Given the description of an element on the screen output the (x, y) to click on. 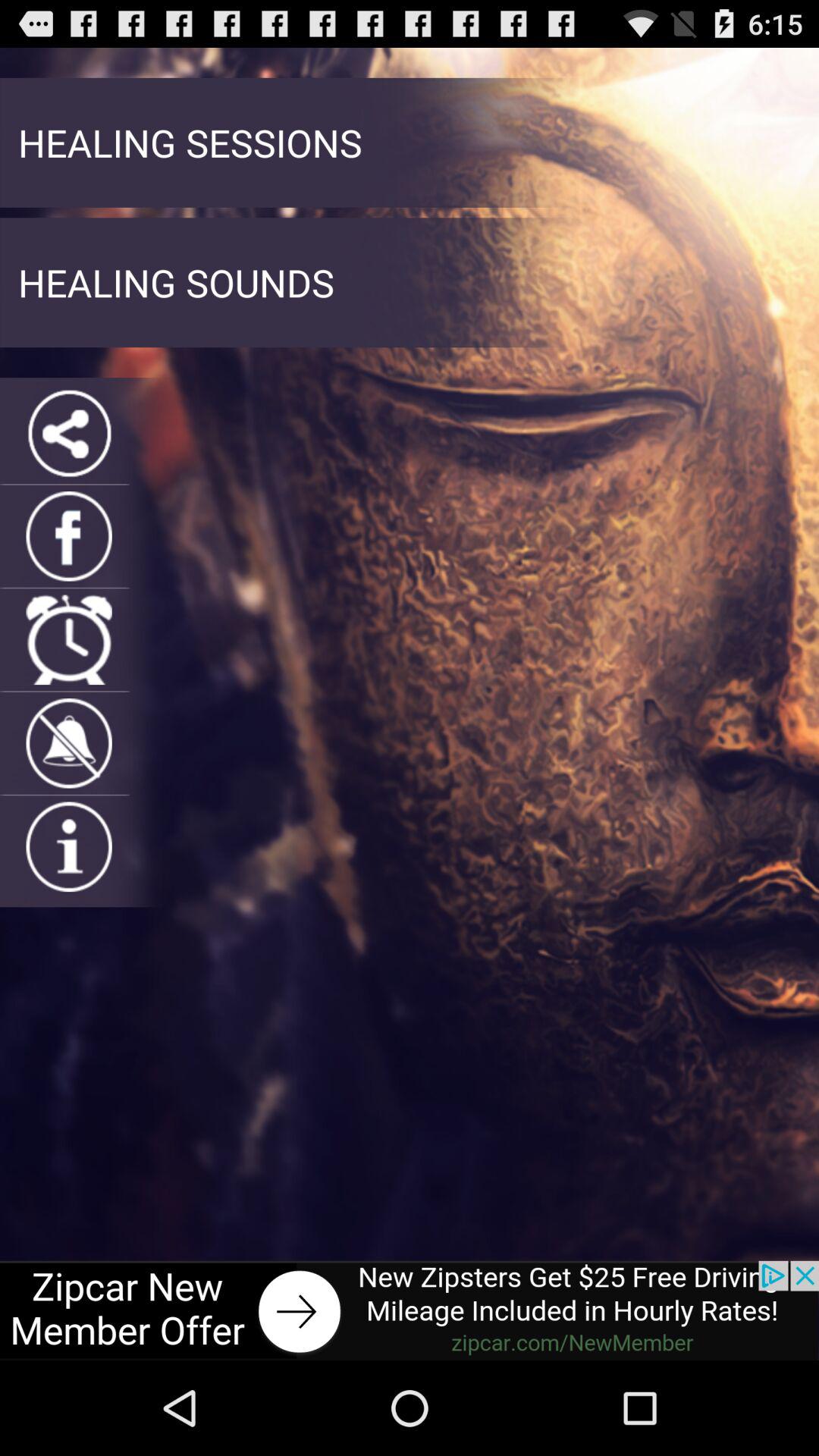
view alarms (69, 639)
